Given the description of an element on the screen output the (x, y) to click on. 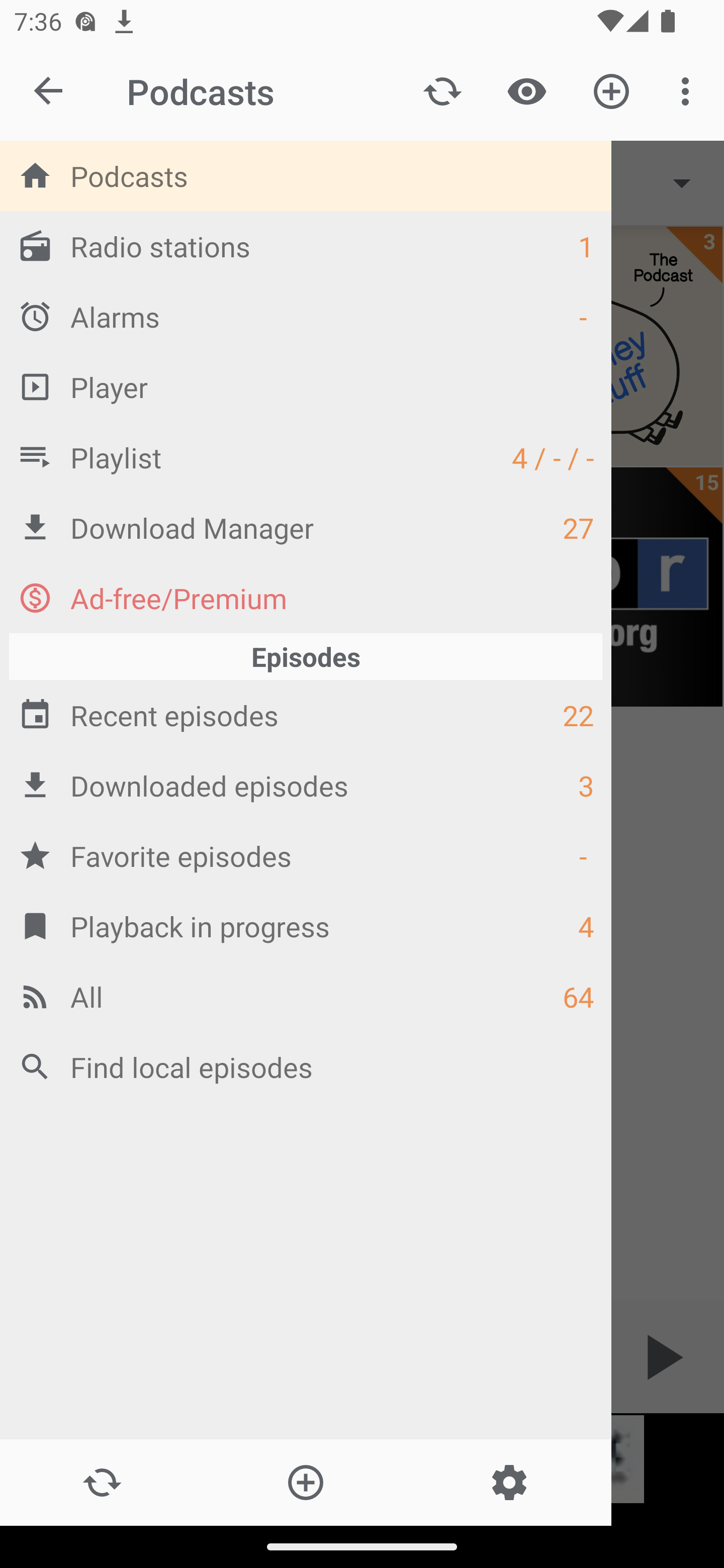
Close navigation sidebar (49, 91)
Update (442, 90)
Show / Hide played content (526, 90)
Add new Podcast (611, 90)
More options (688, 90)
Podcasts (305, 176)
Radio stations 1 (305, 245)
Alarms  -  (305, 315)
Player (305, 386)
Playlist 4 / - / - (305, 456)
Download Manager 27 (305, 527)
Ad-free/Premium (305, 597)
Recent episodes 22 (305, 715)
Downloaded episodes 3 (305, 785)
Favorite episodes  -  (305, 855)
Playback in progress 4 (305, 925)
All 64 (305, 996)
Find local episodes (305, 1066)
Update (101, 1482)
Add new Podcast (304, 1482)
Settings (508, 1482)
